Given the description of an element on the screen output the (x, y) to click on. 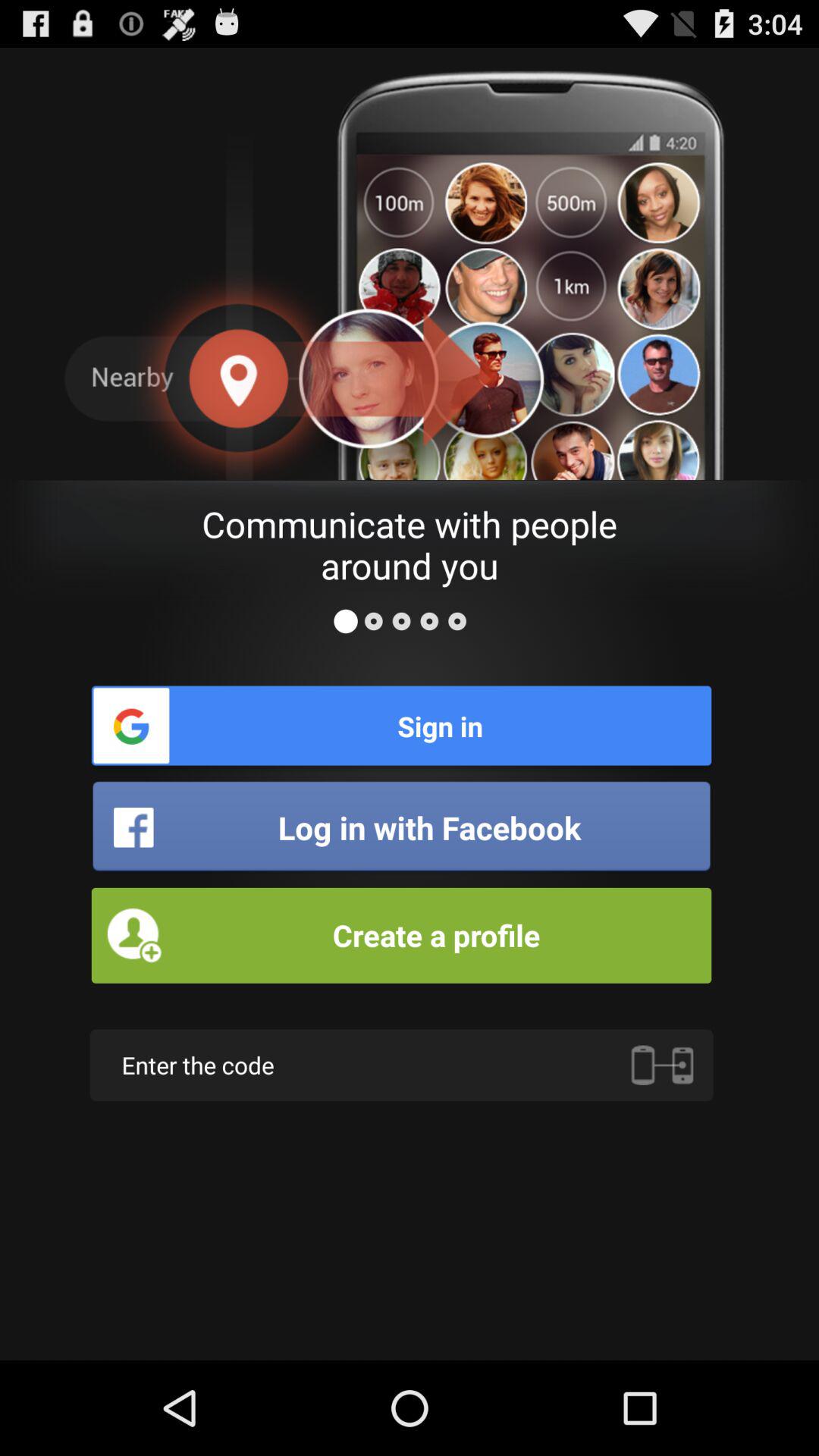
select the enter the code at the bottom (401, 1065)
